Given the description of an element on the screen output the (x, y) to click on. 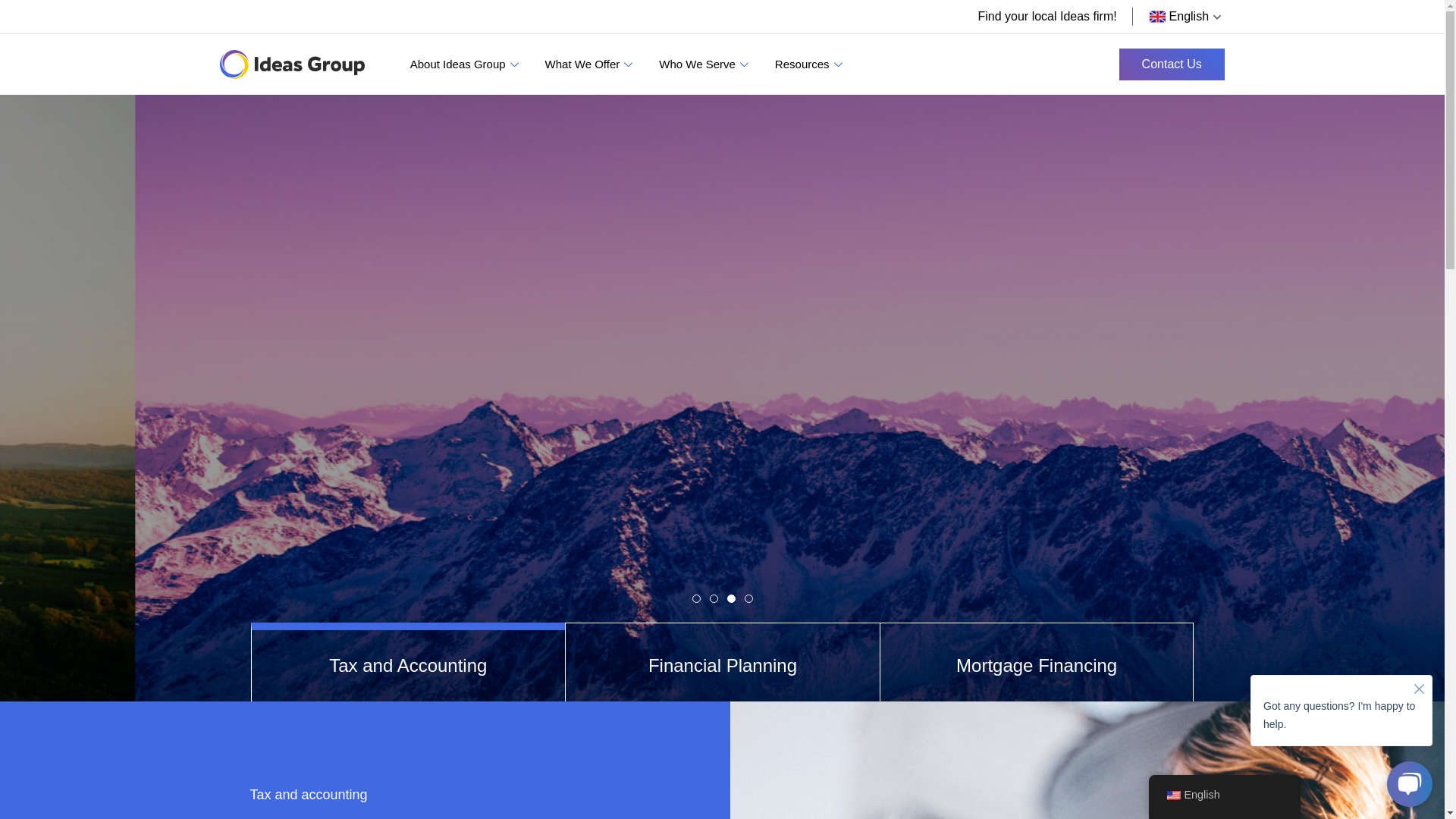
Contact Us Element type: text (1171, 64)
Explore Services Element type: text (851, 437)
English Element type: text (1223, 795)
Discover A Solution Tailored To You Element type: text (656, 437)
Resources Element type: text (810, 64)
English Element type: hover (1172, 795)
English Element type: text (1180, 15)
About Ideas Group Element type: text (465, 64)
Find your local Ideas firm! Element type: text (1046, 15)
What We Offer Element type: text (590, 64)
Who We Serve Element type: text (705, 64)
